Given the description of an element on the screen output the (x, y) to click on. 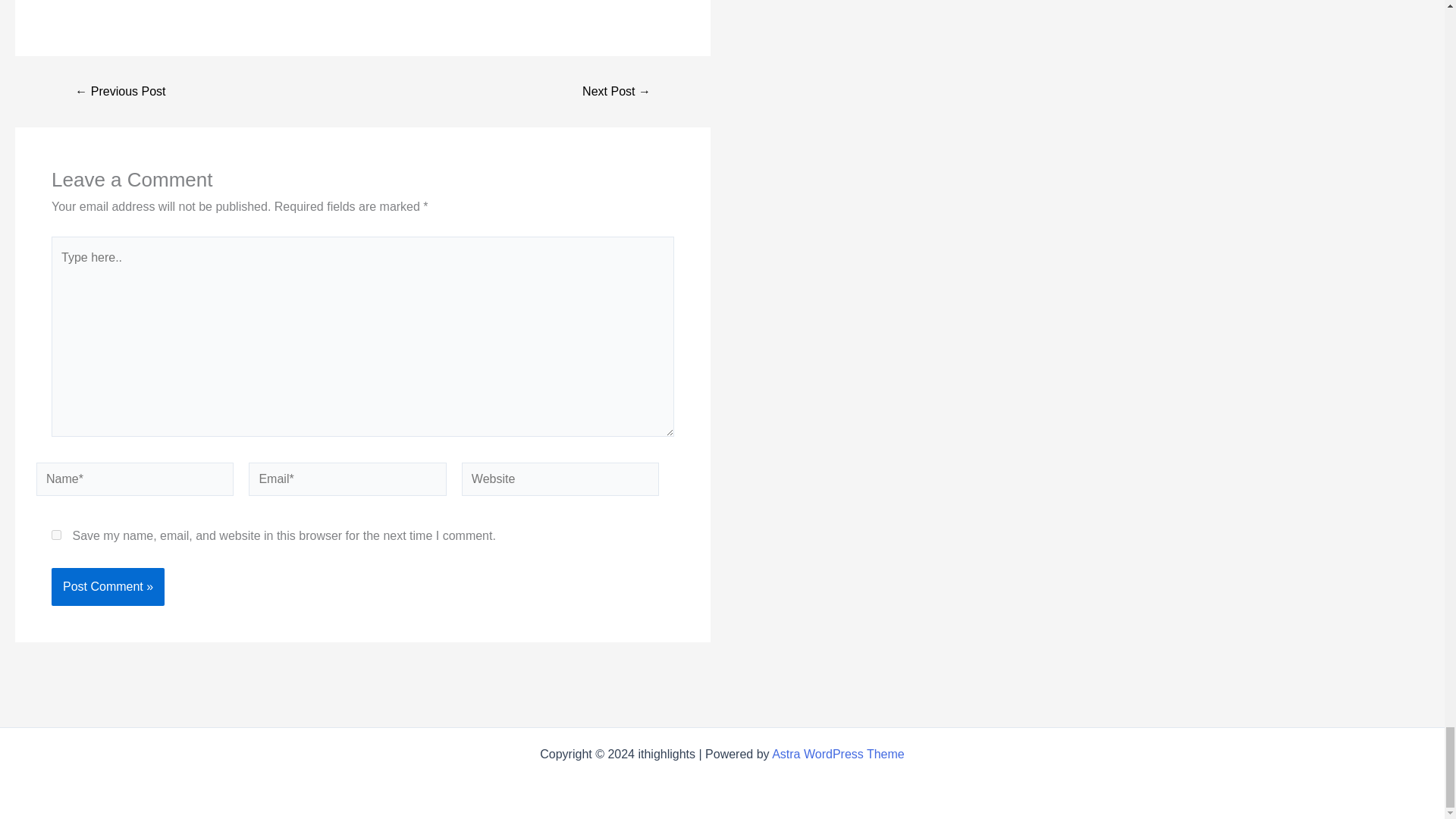
Clenbuterol for sale durban, prix clenbuterol (616, 91)
yes (55, 534)
